Given the description of an element on the screen output the (x, y) to click on. 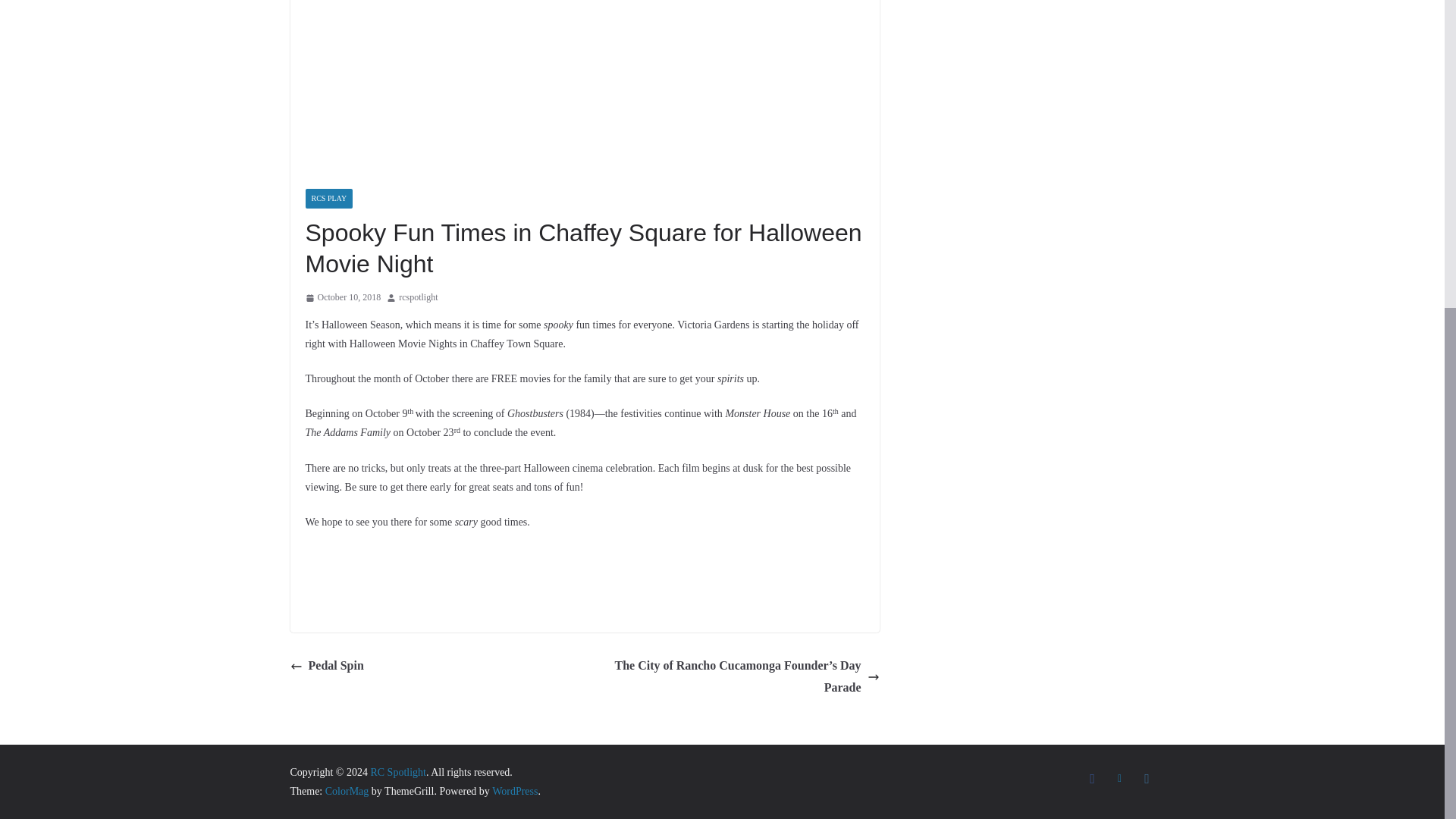
WordPress (514, 790)
rcspotlight (418, 297)
October 10, 2018 (342, 297)
rcspotlight (418, 297)
8:37 pm (342, 297)
RC Spotlight (397, 772)
RCS PLAY (328, 198)
ColorMag (346, 790)
Pedal Spin (325, 666)
WordPress (514, 790)
